Given the description of an element on the screen output the (x, y) to click on. 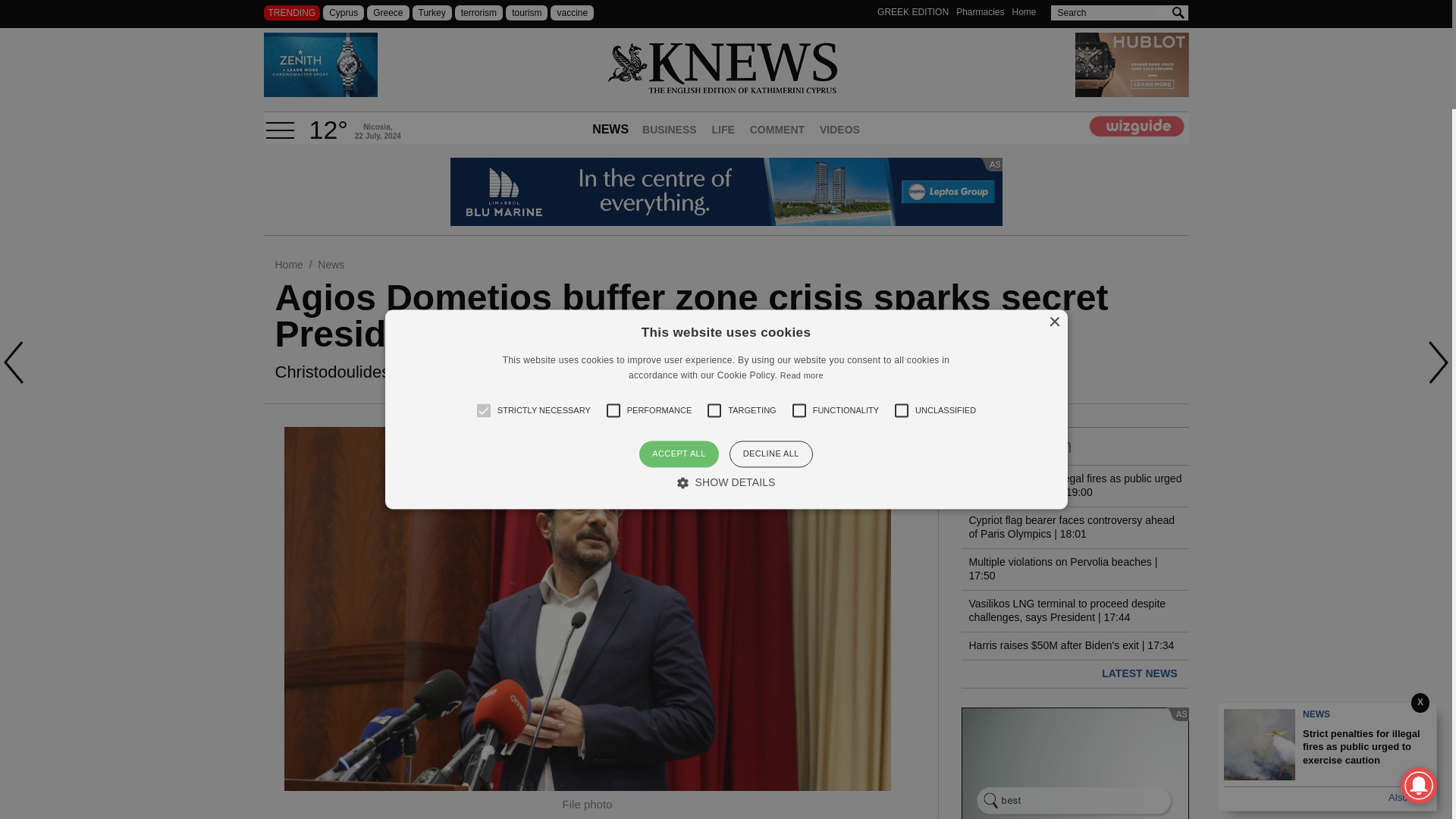
tourism (526, 12)
terrorism (478, 12)
Comment (777, 131)
Greece (387, 12)
LIFE (721, 131)
Home (288, 264)
Cyprus (343, 12)
vaccine (572, 12)
BUSINESS (669, 131)
COMMENT (777, 131)
Turkey (431, 12)
NEWS (610, 131)
Greece (387, 12)
VIDEOS (839, 131)
Home (1023, 11)
